Given the description of an element on the screen output the (x, y) to click on. 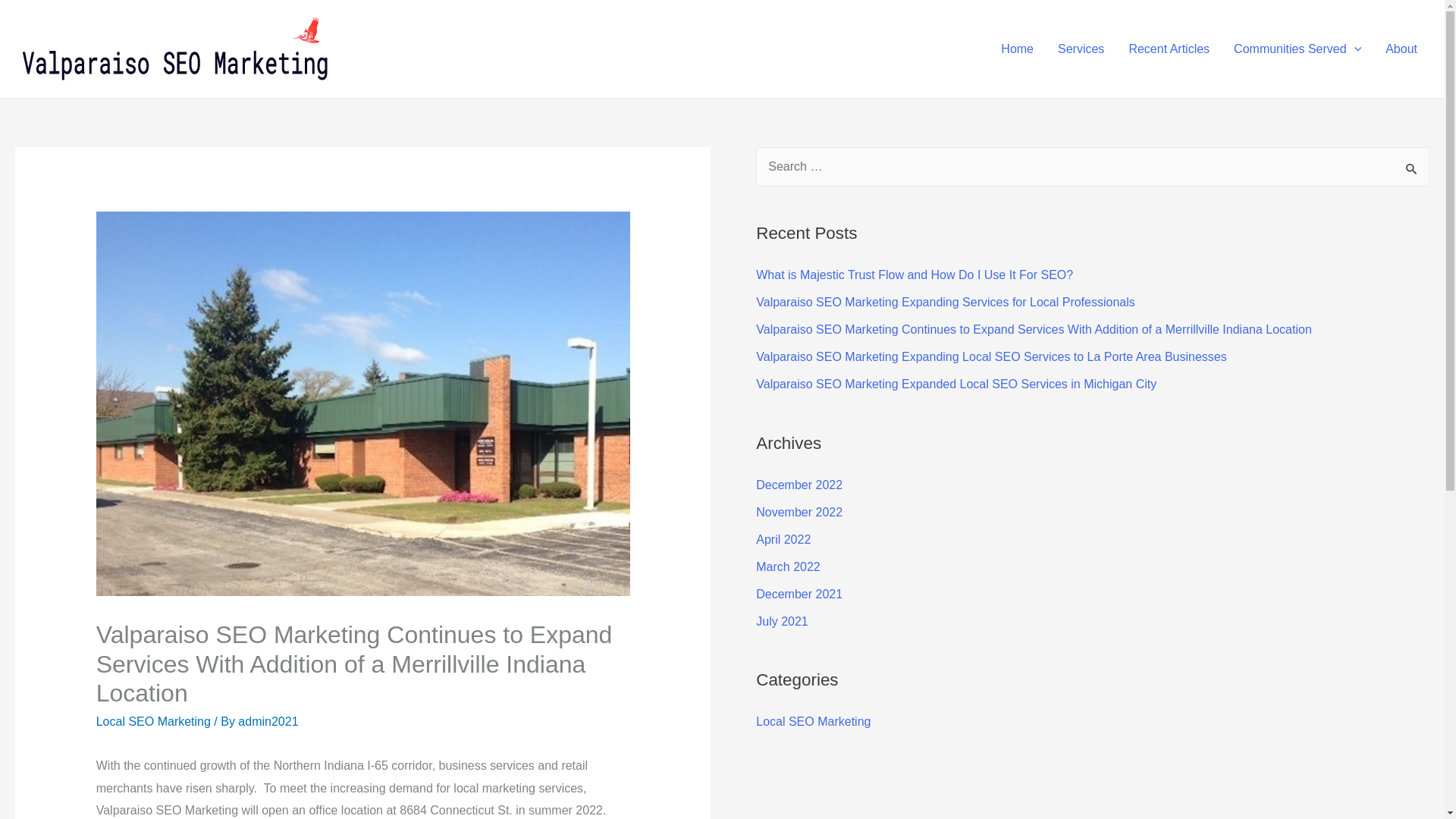
Recent Articles (1168, 49)
Services (1080, 49)
Local SEO Marketing (153, 721)
View all posts by admin2021 (268, 721)
About (1401, 49)
Communities Served (1297, 49)
Home (1016, 49)
